Given the description of an element on the screen output the (x, y) to click on. 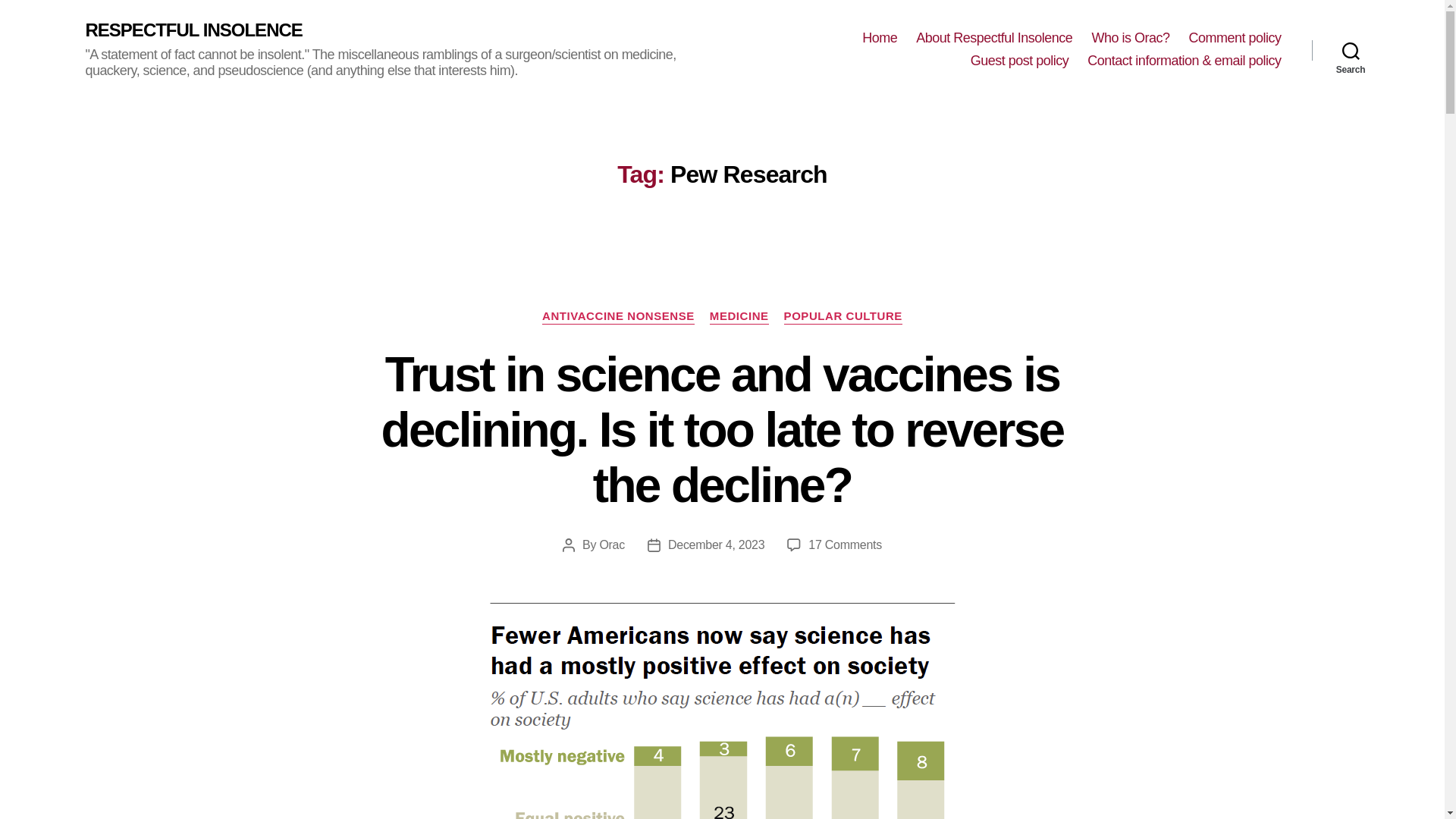
Home (878, 38)
Guest post policy (1019, 61)
ANTIVACCINE NONSENSE (617, 316)
POPULAR CULTURE (843, 316)
RESPECTFUL INSOLENCE (192, 30)
Who is Orac? (1129, 38)
MEDICINE (739, 316)
December 4, 2023 (716, 544)
